Given the description of an element on the screen output the (x, y) to click on. 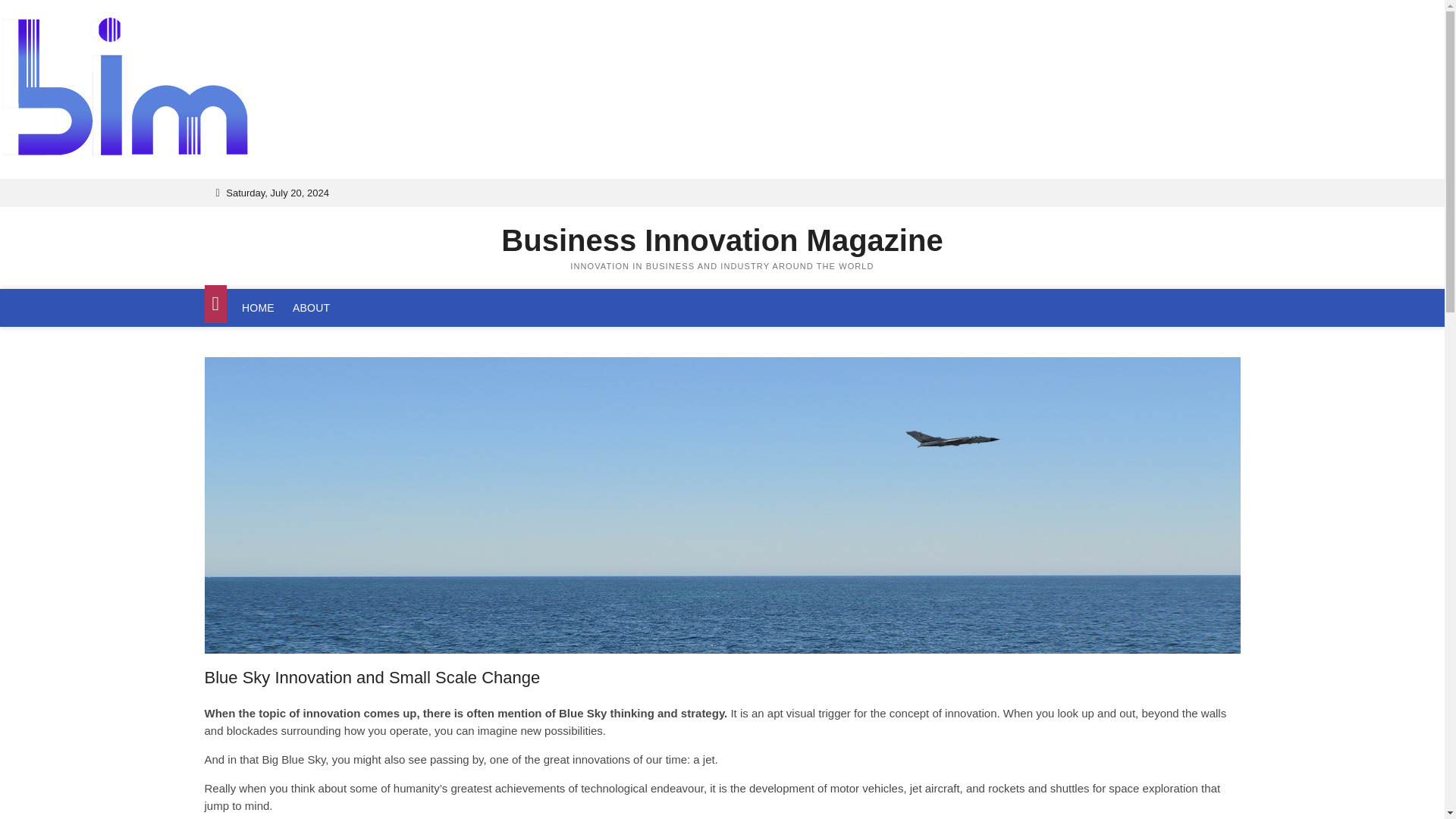
ABOUT (311, 307)
Business Innovation Magazine (722, 240)
Business Innovation Magazine (722, 240)
HOME (258, 307)
